Given the description of an element on the screen output the (x, y) to click on. 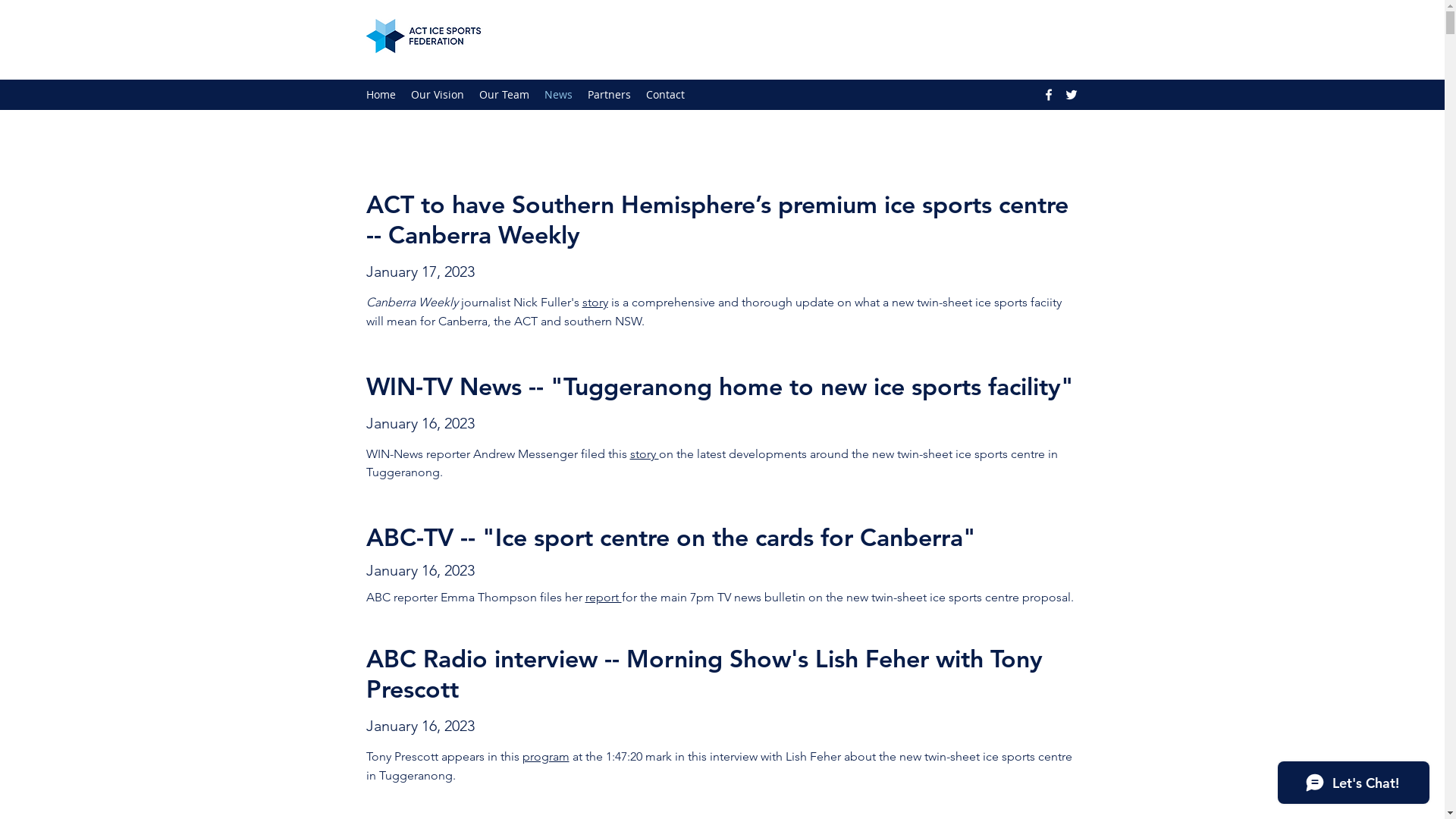
story Element type: text (643, 453)
report Element type: text (603, 596)
Our Team Element type: text (503, 94)
story Element type: text (595, 301)
Our Vision Element type: text (437, 94)
Partners Element type: text (608, 94)
Home Element type: text (379, 94)
program Element type: text (544, 756)
Contact Element type: text (665, 94)
News Element type: text (558, 94)
